Given the description of an element on the screen output the (x, y) to click on. 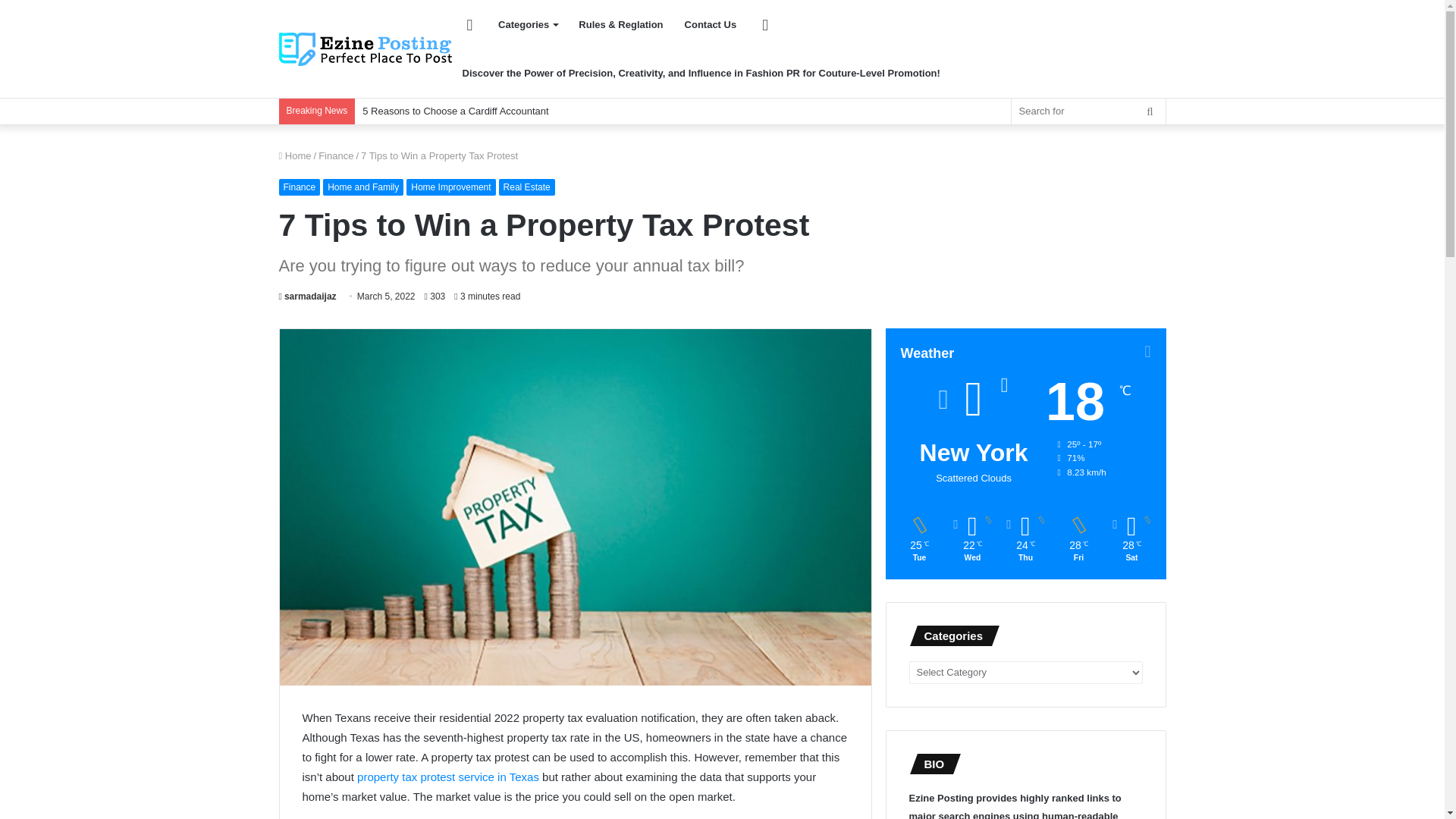
Home (295, 155)
Real Estate (526, 187)
sarmadaijaz (307, 296)
Search for (1088, 110)
Ezine Posting (365, 49)
Home and Family (363, 187)
Finance (335, 155)
Finance (299, 187)
5 Reasons to Choose a Cardiff Accountant (455, 111)
